Given the description of an element on the screen output the (x, y) to click on. 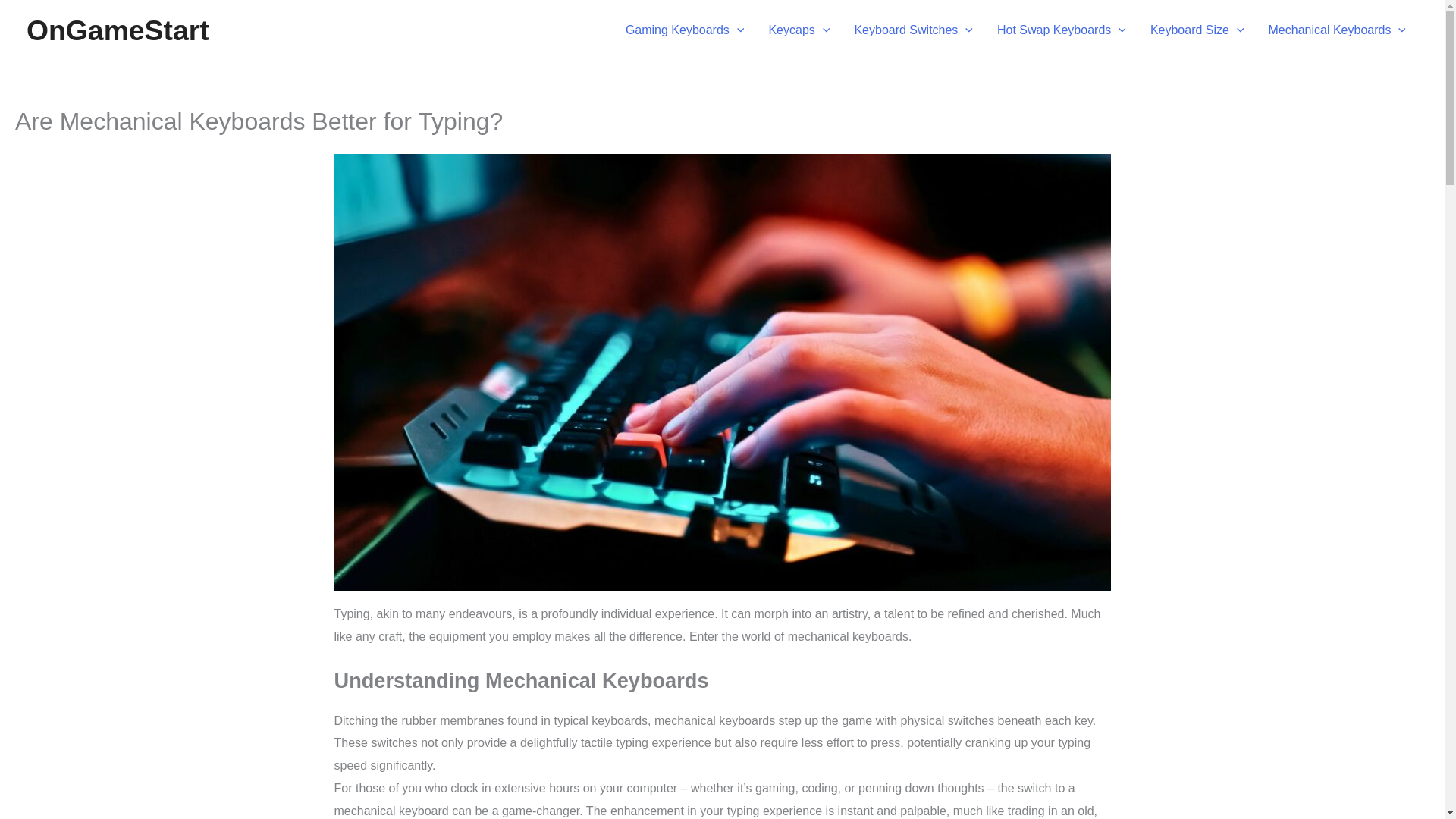
Gaming Keyboards (684, 30)
OnGameStart (117, 29)
Keycaps (798, 30)
Keyboard Switches (913, 30)
